Given the description of an element on the screen output the (x, y) to click on. 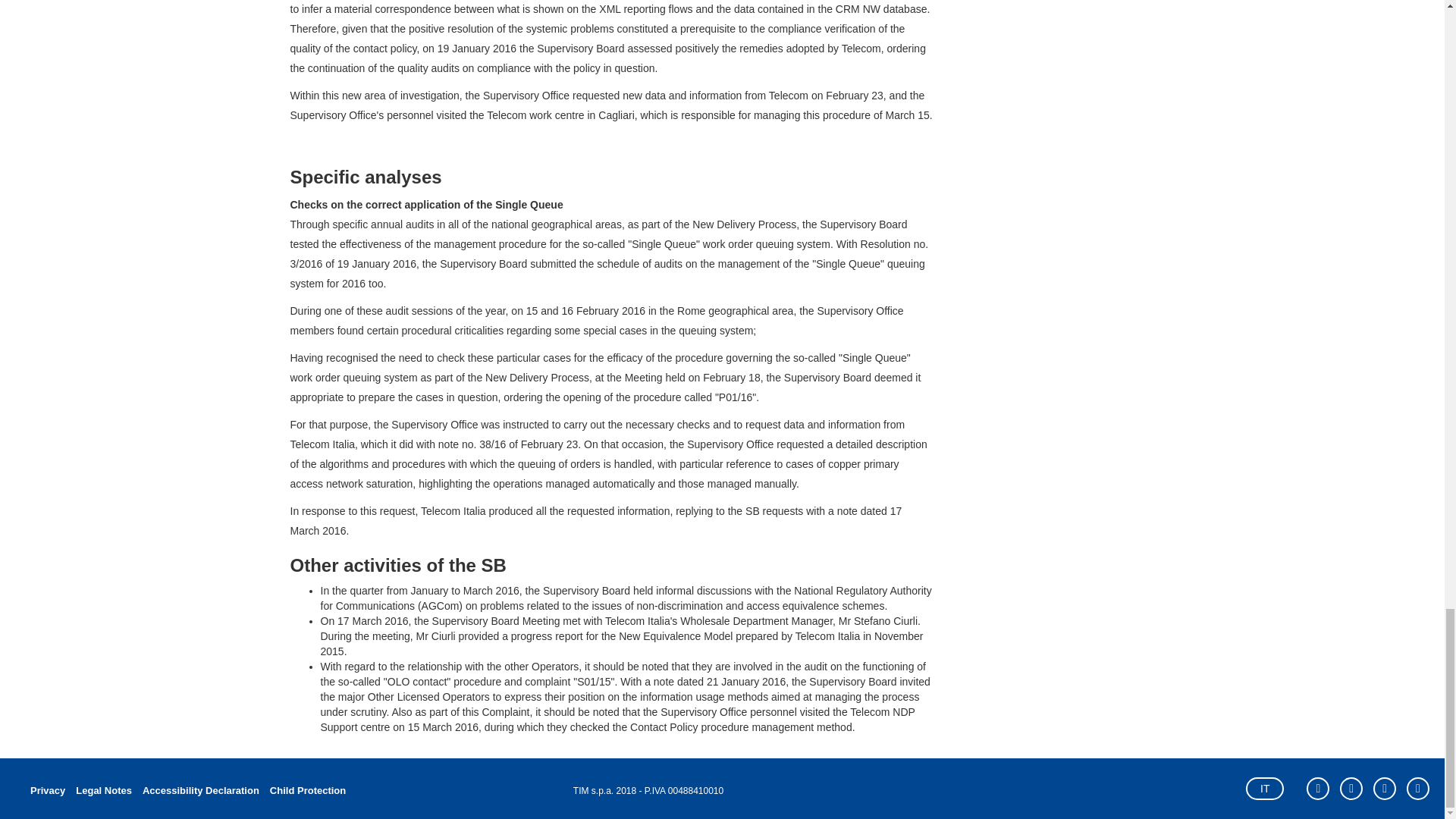
IT (1265, 788)
Privacy (46, 790)
Accessibility Declaration (200, 790)
Child Protection (305, 790)
Legal Notes (102, 790)
